Given the description of an element on the screen output the (x, y) to click on. 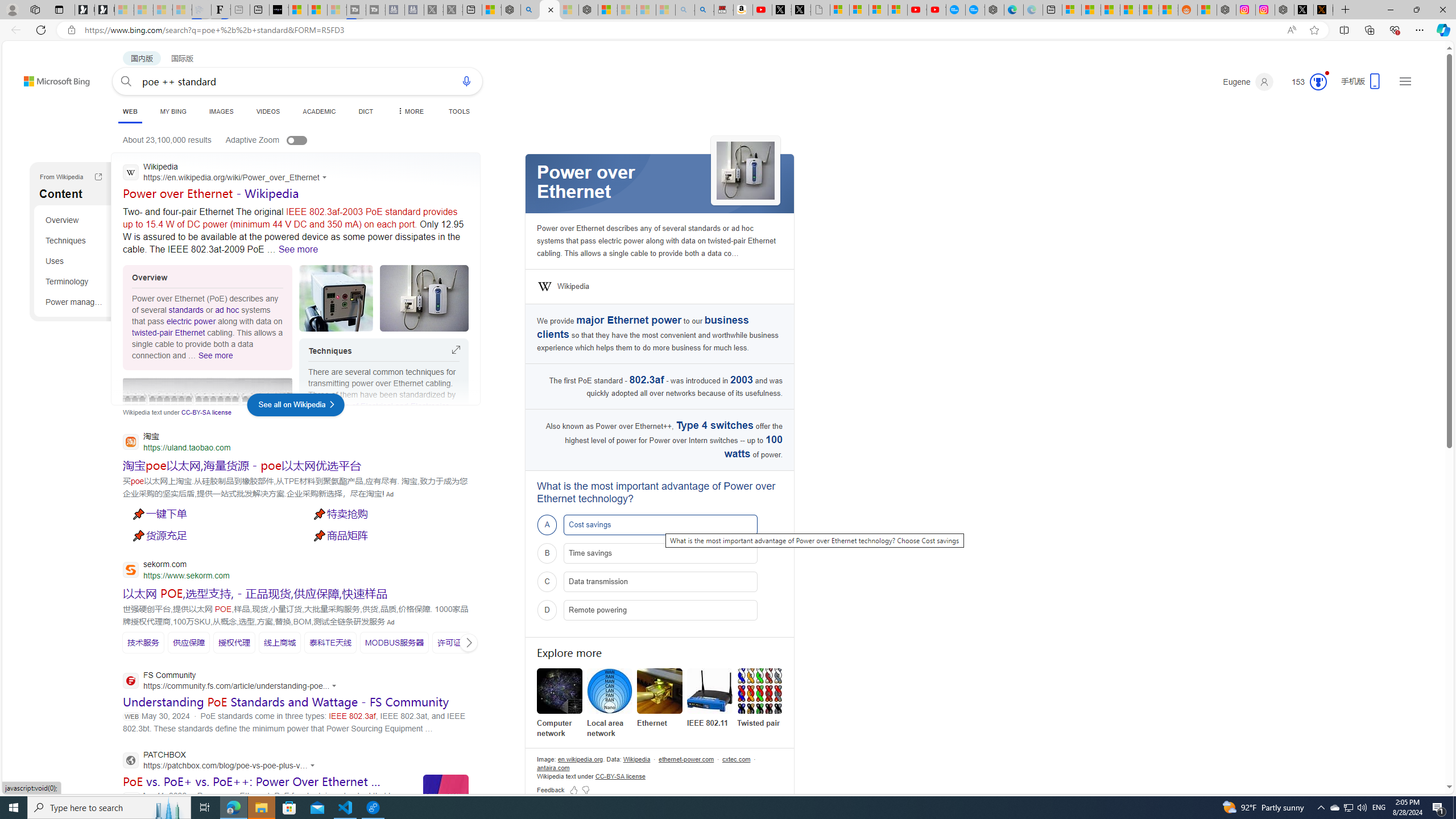
Explore more IEEE 802.11 (709, 698)
ad hoc (226, 309)
Shanghai, China hourly forecast | Microsoft Weather (1110, 9)
Overview (74, 219)
Data attribution cxtec.com (736, 758)
YouTube Kids - An App Created for Kids to Explore Content (935, 9)
Newsletter Sign Up (104, 9)
SERP,5926 (142, 642)
Global web icon (130, 759)
Search button (126, 80)
